Given the description of an element on the screen output the (x, y) to click on. 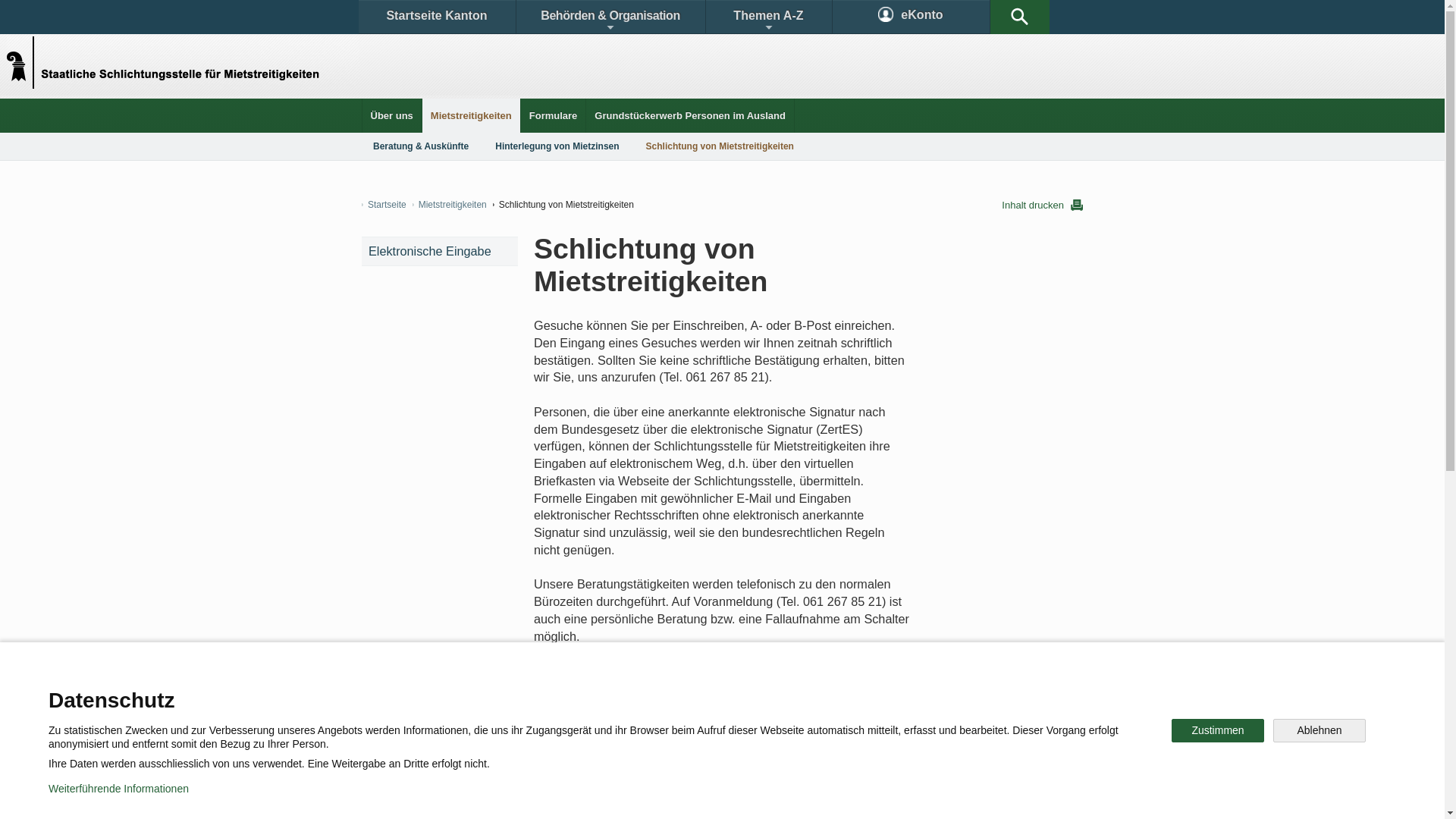
Instagram Element type: text (738, 746)
Inhalt drucken Element type: text (1041, 204)
Nutzungsregelungen Element type: text (542, 796)
Twitter Element type: text (642, 746)
Zustimmen Element type: text (1217, 730)
Zur mobilen Ansicht Element type: text (752, 796)
Kontakt Element type: text (406, 693)
Stadtplan & Karte Element type: text (504, 693)
Hinterlegung von Mietzinsen Element type: text (556, 145)
Mietstreitigkeiten Element type: text (471, 115)
eKonto Element type: text (910, 17)
Formulare Element type: text (553, 115)
Startseite Element type: text (383, 204)
Impressum Element type: text (648, 796)
Mietstreitigkeiten Element type: text (449, 204)
Themen A-Z Element type: text (768, 17)
Publikationen Element type: text (795, 693)
Statistiken Element type: text (687, 693)
Bild & Multimedia Element type: text (908, 693)
Ablehnen Element type: text (1319, 730)
Gesetze Element type: text (597, 693)
Elektronische Eingabe Element type: text (439, 251)
Startseite Kanton Element type: text (435, 17)
Facebook Element type: text (547, 746)
